Given the description of an element on the screen output the (x, y) to click on. 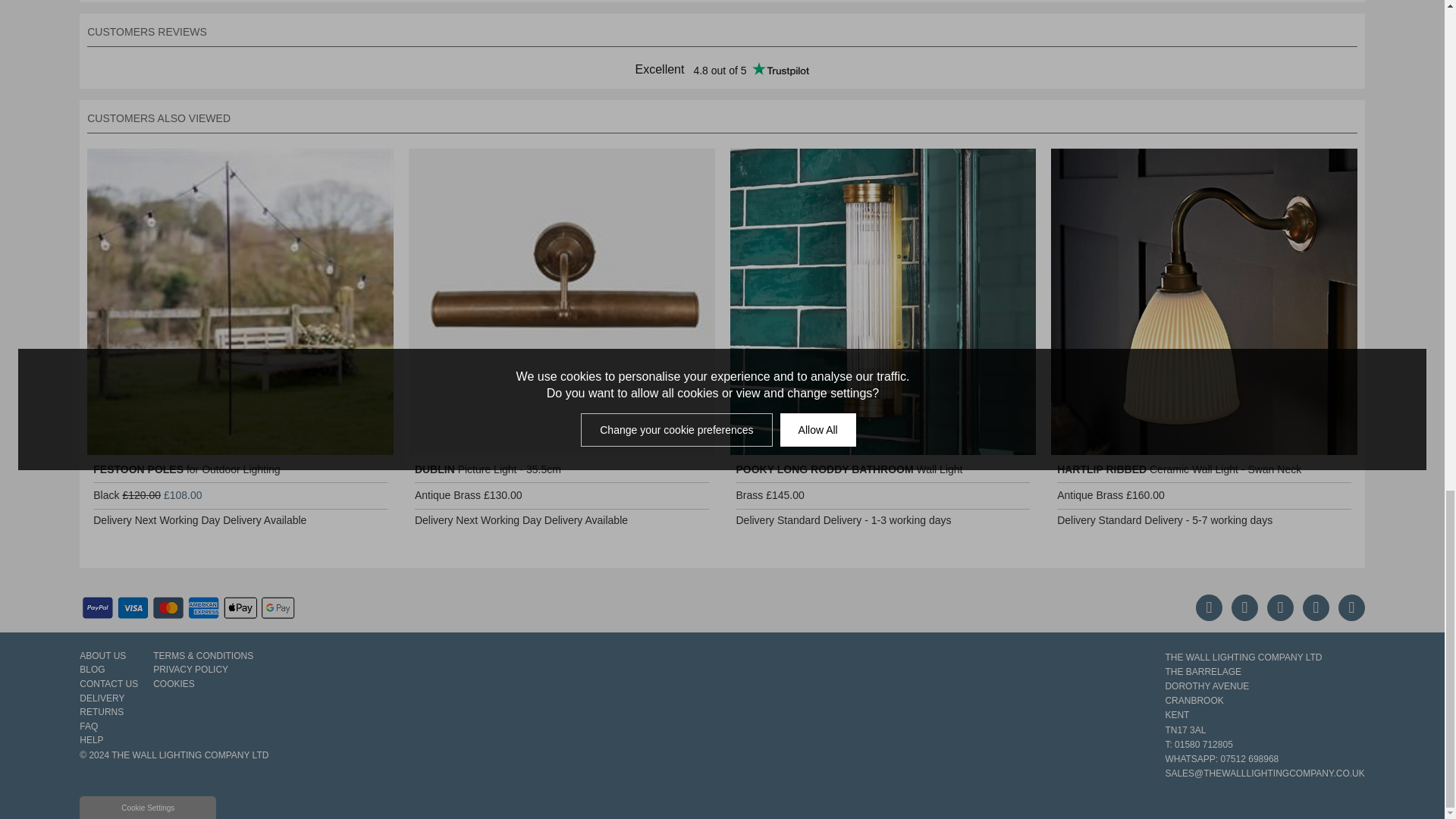
Customer reviews powered by Trustpilot (721, 69)
Follow us on Twitter (1280, 607)
Like us on Facebook (1209, 607)
Follow us on Pinterest (1244, 607)
Follow us on Instagram (1316, 607)
Follow us on Houzz (1351, 607)
